Given the description of an element on the screen output the (x, y) to click on. 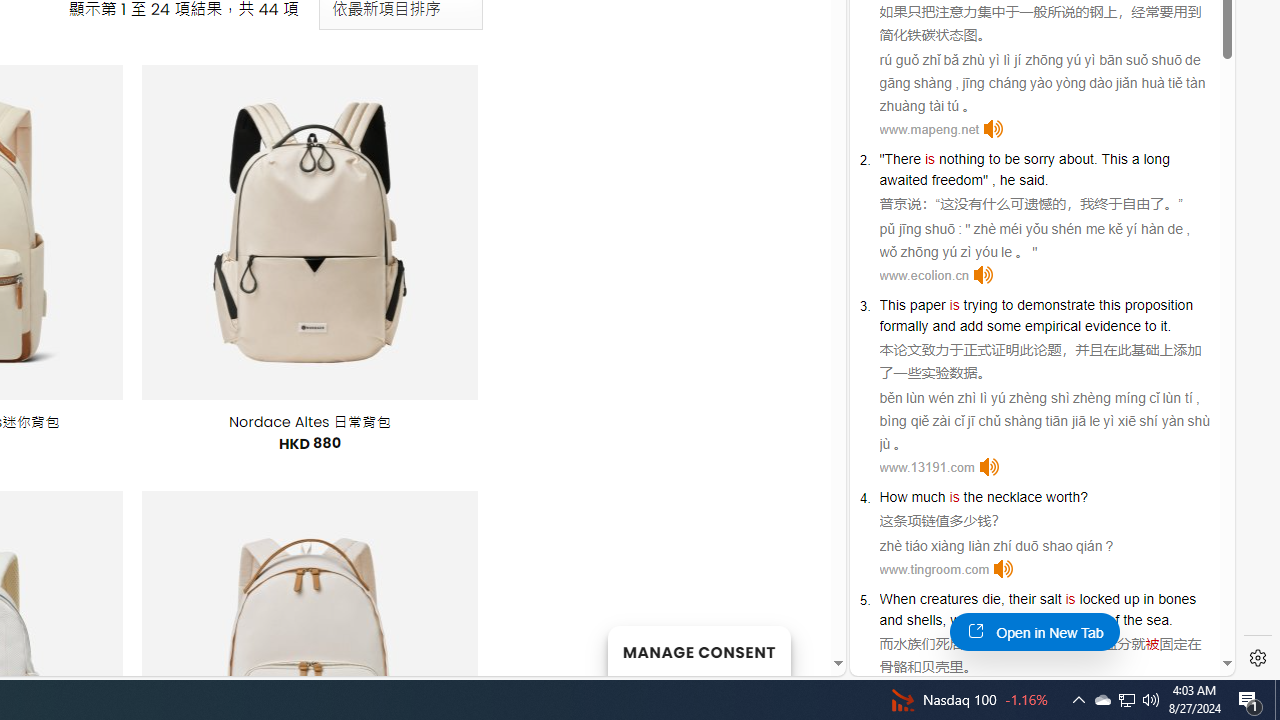
be (1011, 159)
formally (904, 326)
nothing (961, 159)
their (1021, 598)
